Given the description of an element on the screen output the (x, y) to click on. 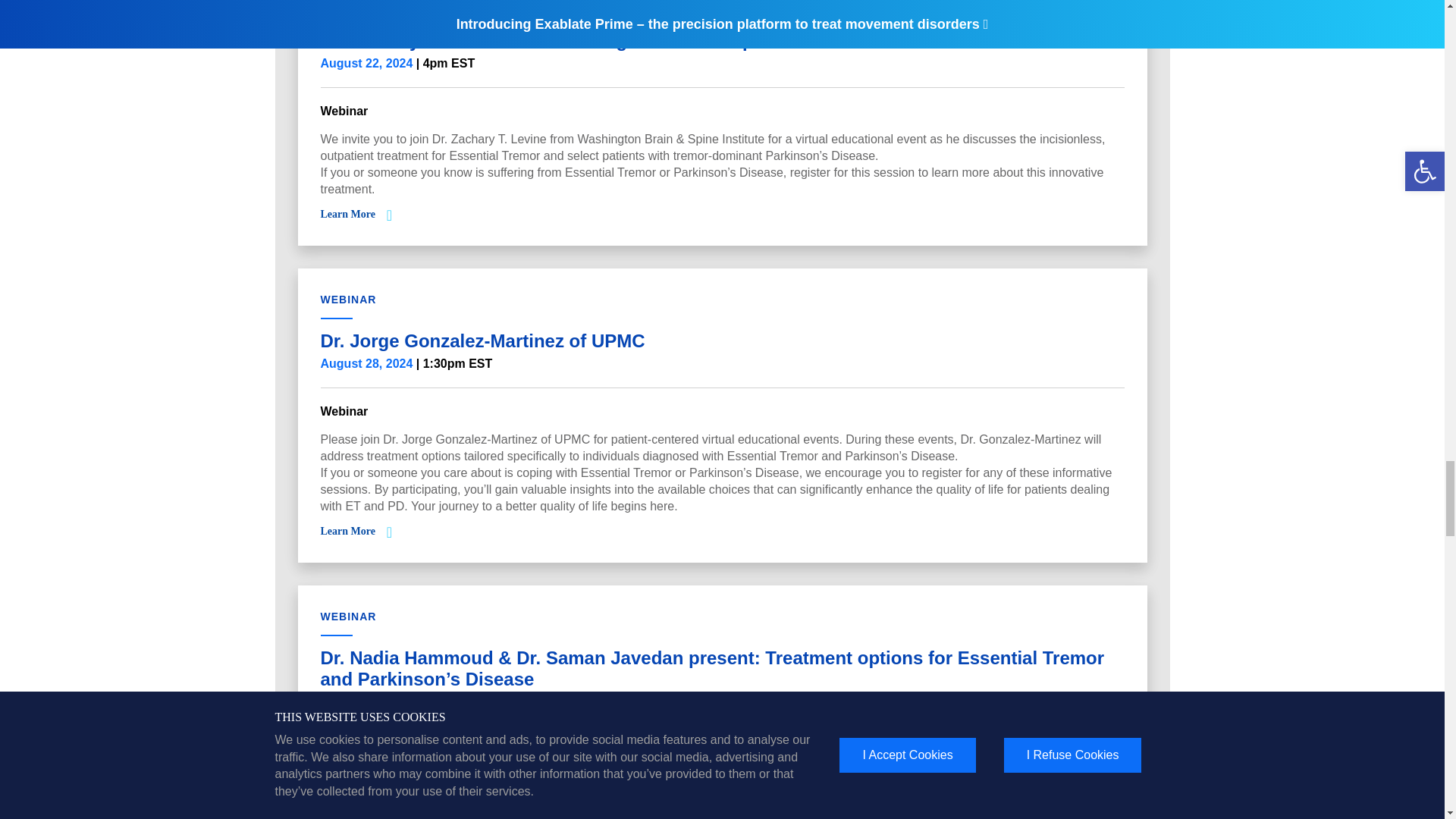
Learn More (347, 214)
Learn More (347, 531)
